Given the description of an element on the screen output the (x, y) to click on. 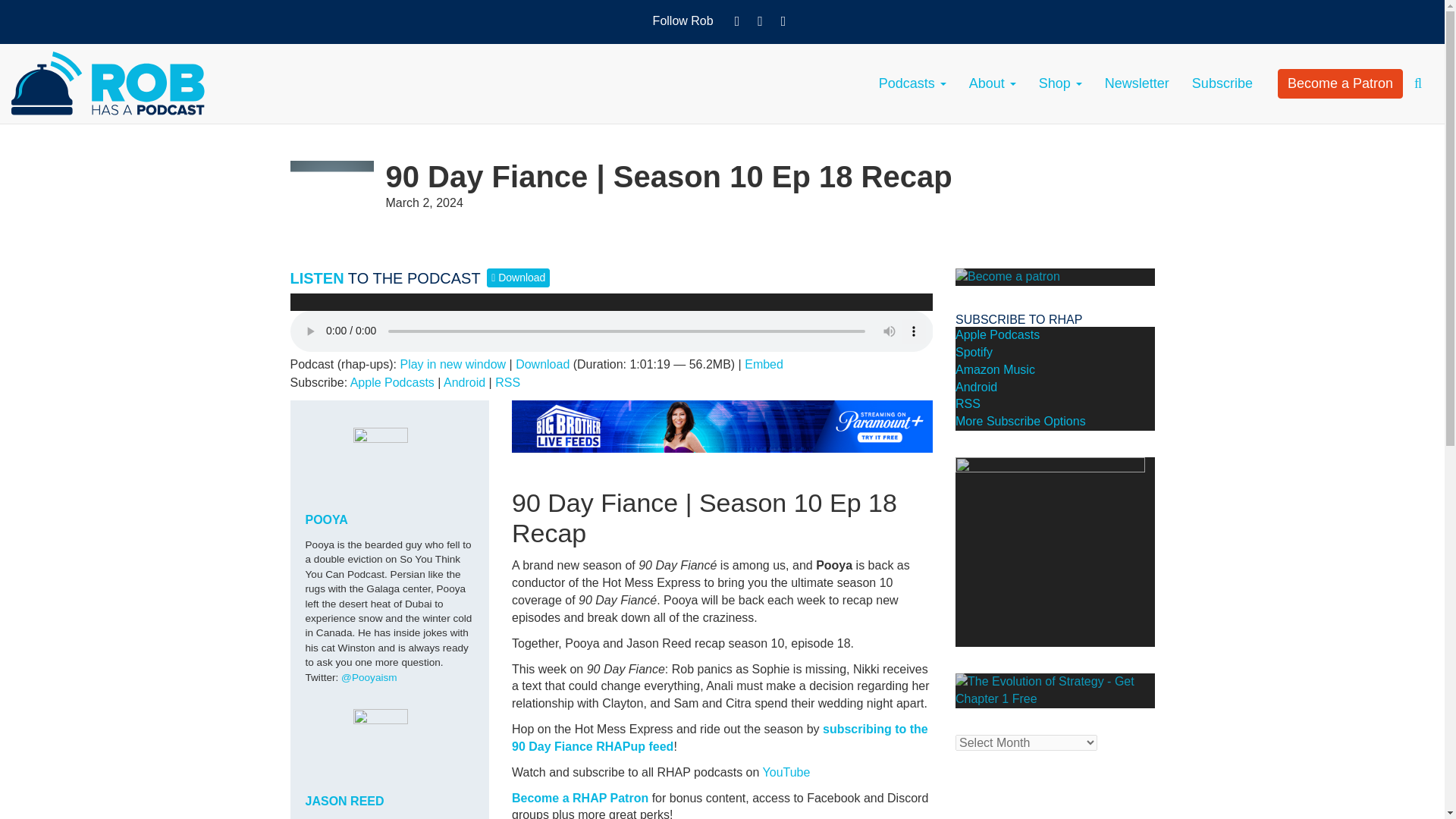
Play in new window (451, 364)
Subscribe via RSS (507, 382)
Subscribe on Apple Podcasts (391, 382)
Embed (763, 364)
Podcasts (912, 83)
Download (542, 364)
Subscribe on Android (464, 382)
